Given the description of an element on the screen output the (x, y) to click on. 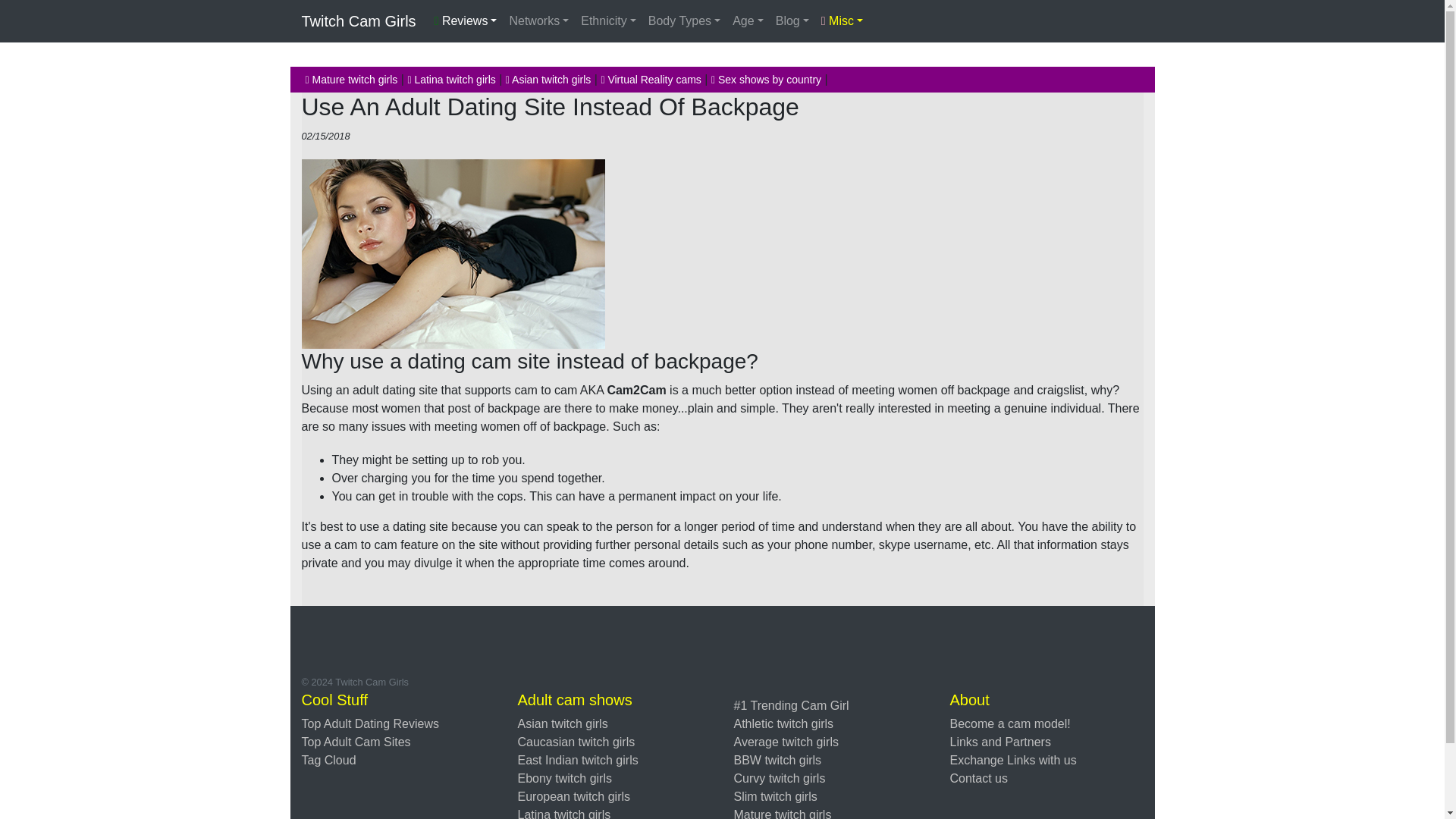
Browse average sex twitch girls on Twitch Cam Girls (785, 741)
Ethnicity (608, 20)
Browse latina twitch girls on Twitch Cam Girls (563, 813)
Browse european twitch girls on Twitch Cam Girls (573, 796)
Twitch Cam Girls (358, 20)
latina twitch girls (451, 79)
asian twitch girls (548, 79)
Browse east indian twitch girls on Twitch Cam Girls (576, 759)
Body Types (684, 20)
Blog (792, 20)
Browse athletic sex twitch girls on Twitch Cam Girls (783, 723)
vr twitch girls (649, 79)
Browse asian twitch girls on Twitch Cam Girls (561, 723)
mature twitch girls (350, 79)
